Given the description of an element on the screen output the (x, y) to click on. 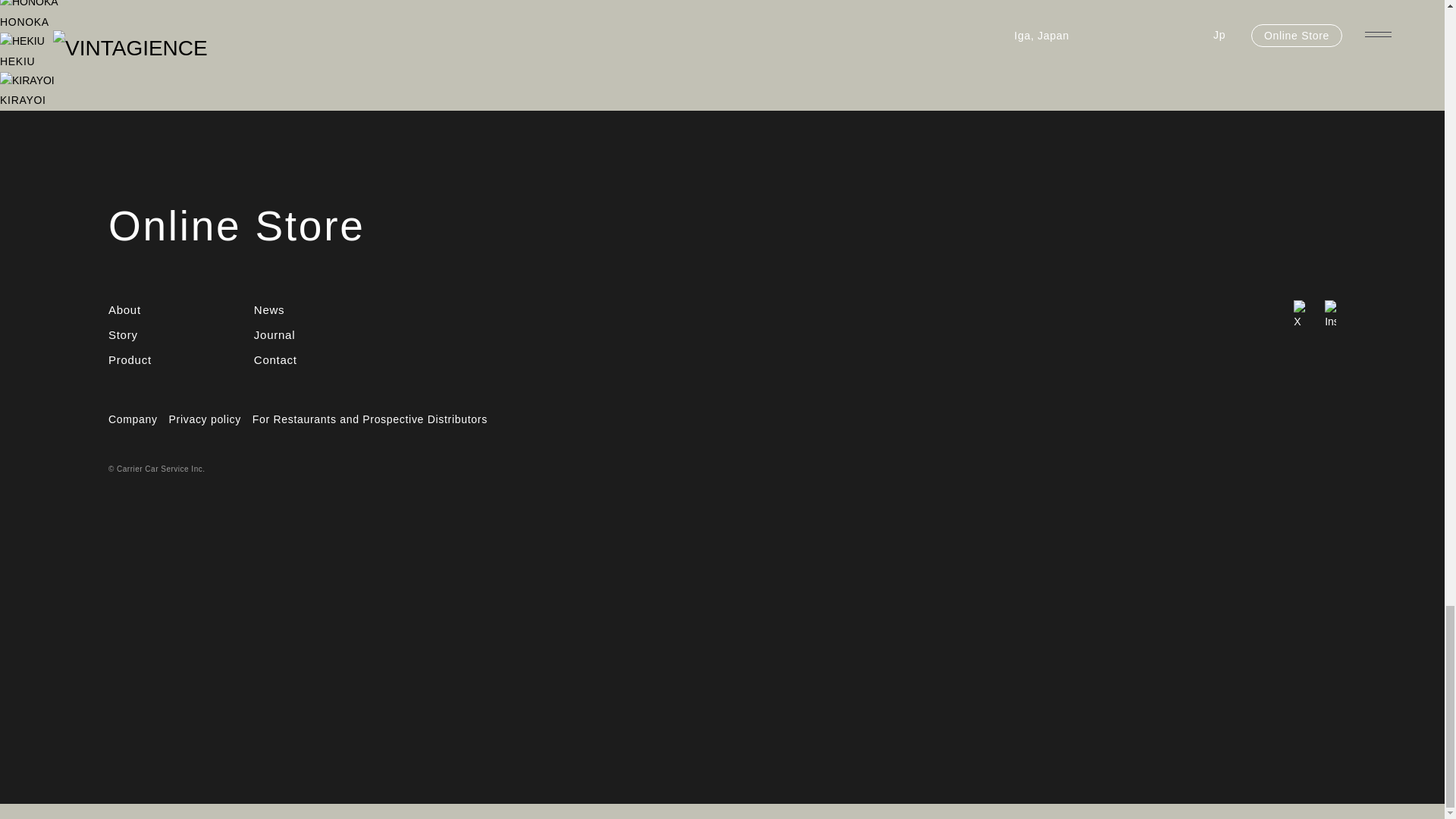
Journal (274, 334)
Privacy policy (204, 419)
Online Store (369, 419)
Contact (236, 226)
Company (275, 360)
News (132, 419)
Story (269, 310)
Product (122, 334)
About (129, 360)
